Given the description of an element on the screen output the (x, y) to click on. 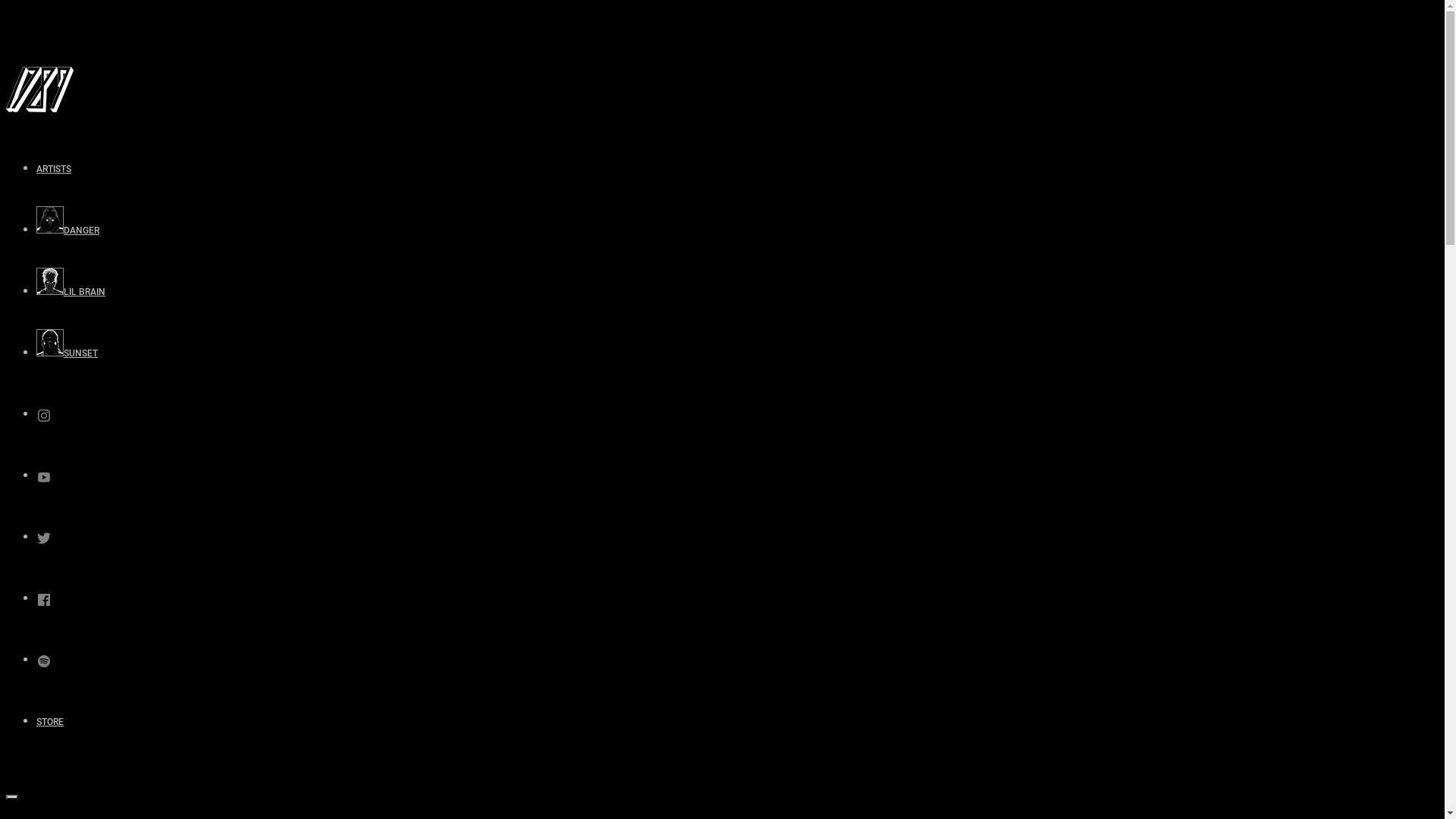
LIL BRAIN Element type: text (70, 291)
STORE Element type: text (49, 721)
ARTISTS Element type: text (53, 168)
DANGER Element type: text (67, 230)
SUNSET Element type: text (66, 353)
